Given the description of an element on the screen output the (x, y) to click on. 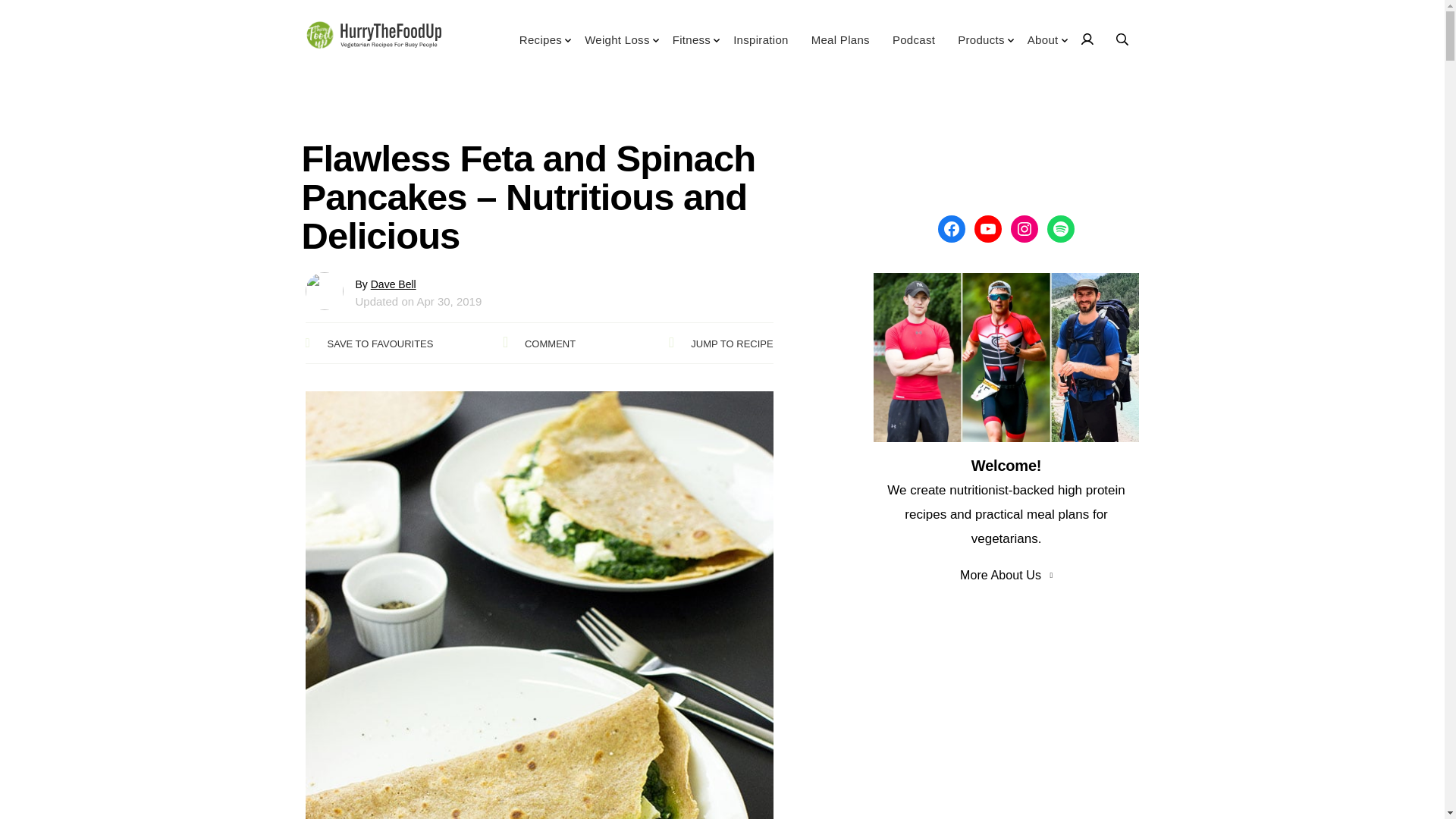
Fitness (691, 46)
Hurry The Food Up (372, 37)
Go to homepage (372, 37)
Weight Loss (617, 46)
Inspiration (760, 46)
Recipes (540, 46)
Meal Plans (840, 46)
